Given the description of an element on the screen output the (x, y) to click on. 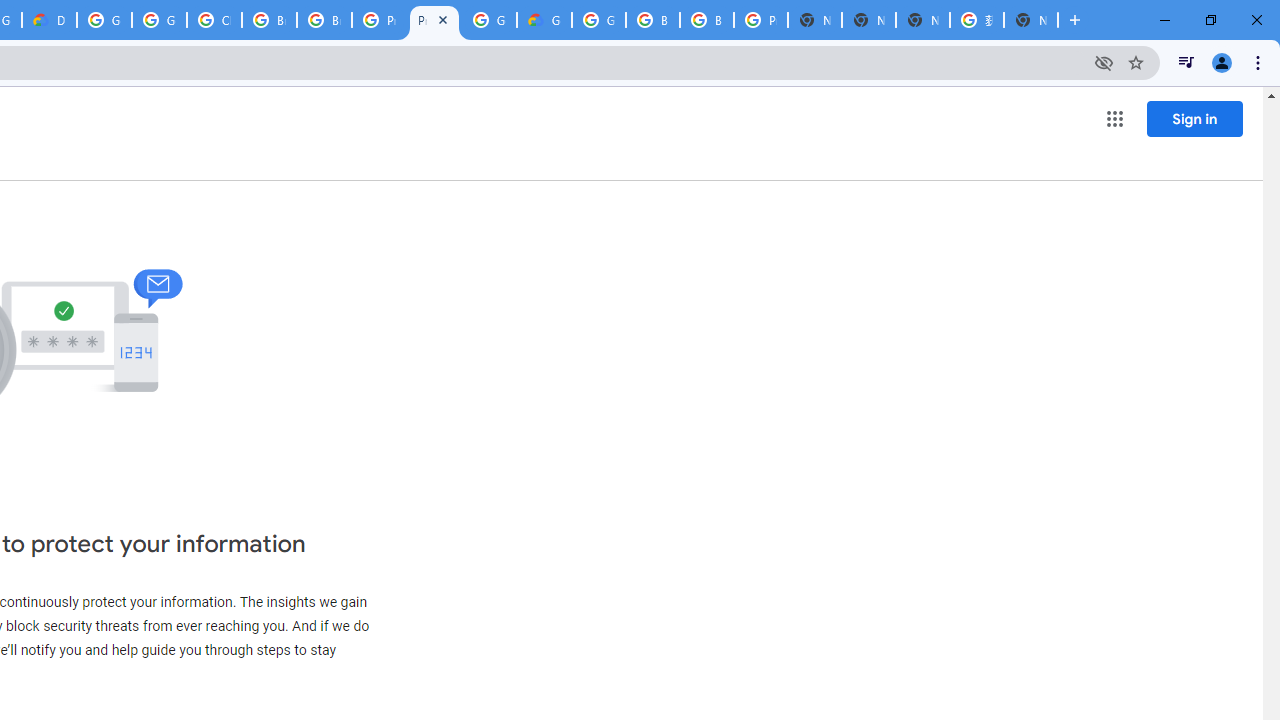
You (1221, 62)
Google Cloud Platform (489, 20)
New Tab (1075, 20)
Browse Chrome as a guest - Computer - Google Chrome Help (324, 20)
New Tab (1030, 20)
Third-party cookies blocked (1103, 62)
New Tab (815, 20)
Google Cloud Platform (103, 20)
Google apps (1114, 118)
